Given the description of an element on the screen output the (x, y) to click on. 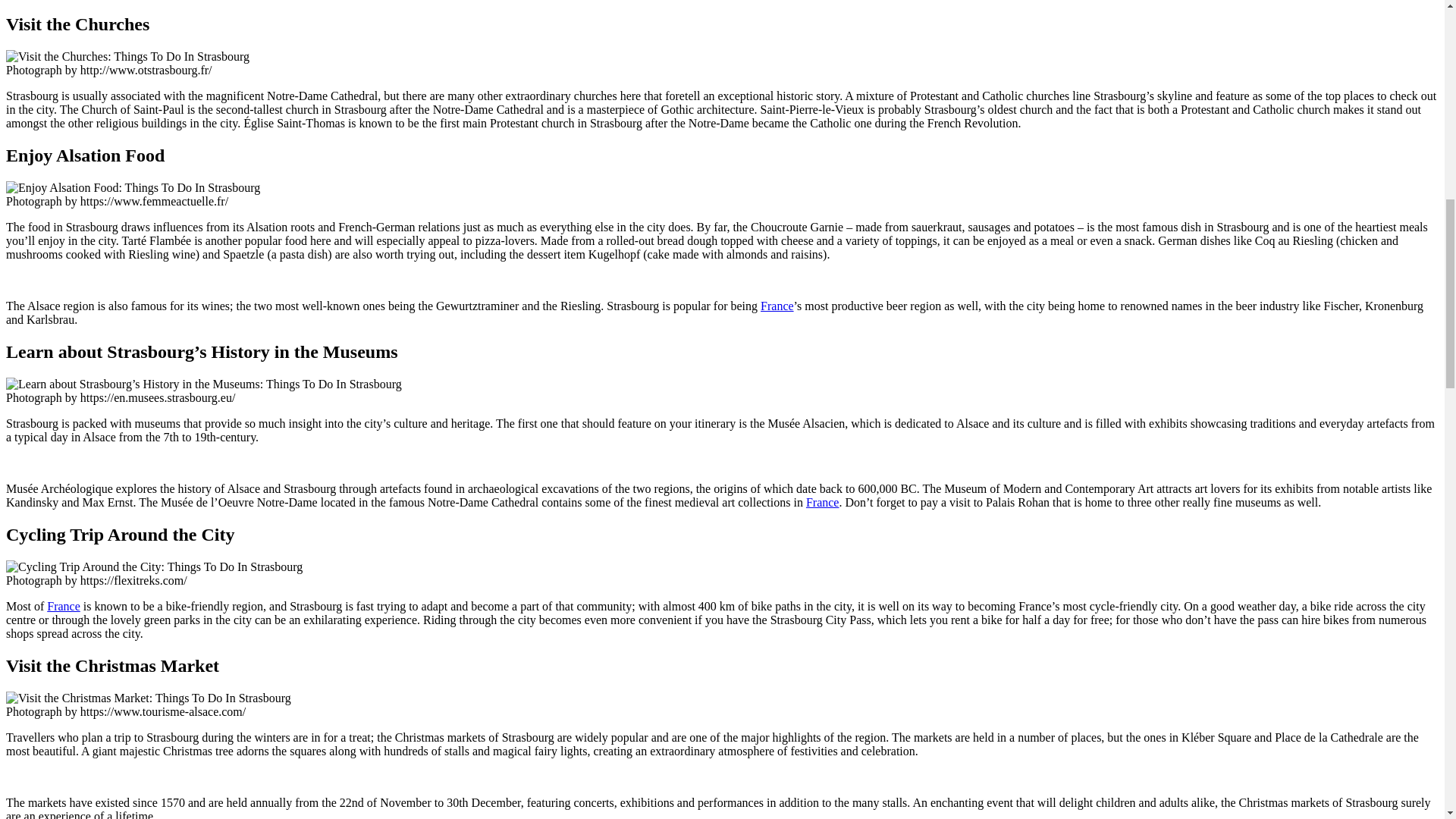
France (63, 605)
Visit the Churches:  Things To Do In Strasbourg (126, 56)
Enjoy Alsation Food:  Things To Do In Strasbourg (132, 187)
France (776, 305)
France (823, 502)
Cycling Trip Around the City:  Things To Do In Strasbourg (153, 567)
